Given the description of an element on the screen output the (x, y) to click on. 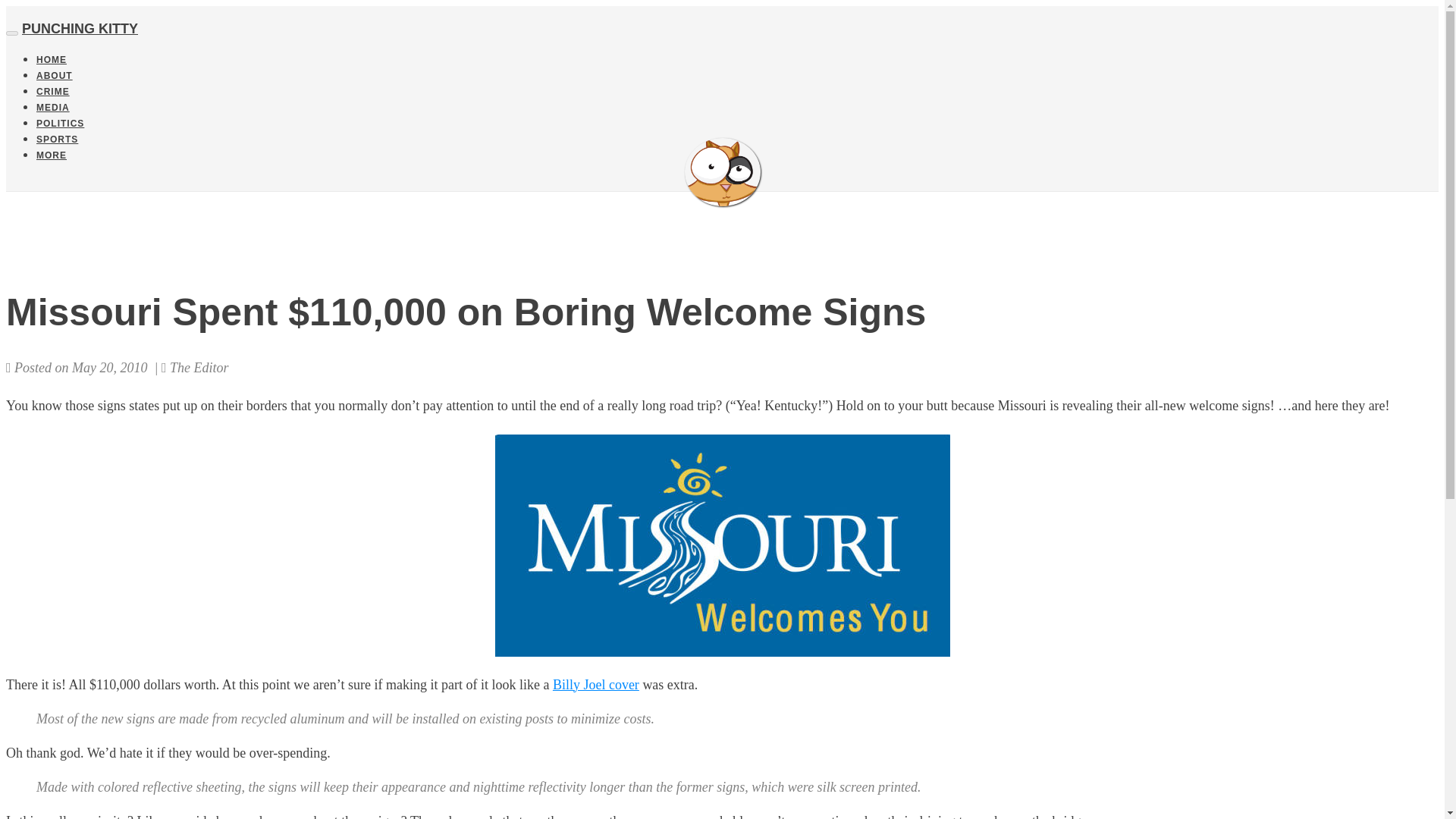
Sports (57, 139)
988061-600-0-1 (722, 545)
More (51, 154)
POLITICS (60, 122)
Home (51, 59)
PUNCHING KITTY (722, 172)
About (54, 75)
Politics (60, 122)
Crime (52, 91)
Billy Joel cover (596, 683)
PUNCHING KITTY (79, 28)
MORE (51, 154)
SPORTS (57, 139)
Media (52, 107)
Toggle navigation (11, 33)
